Given the description of an element on the screen output the (x, y) to click on. 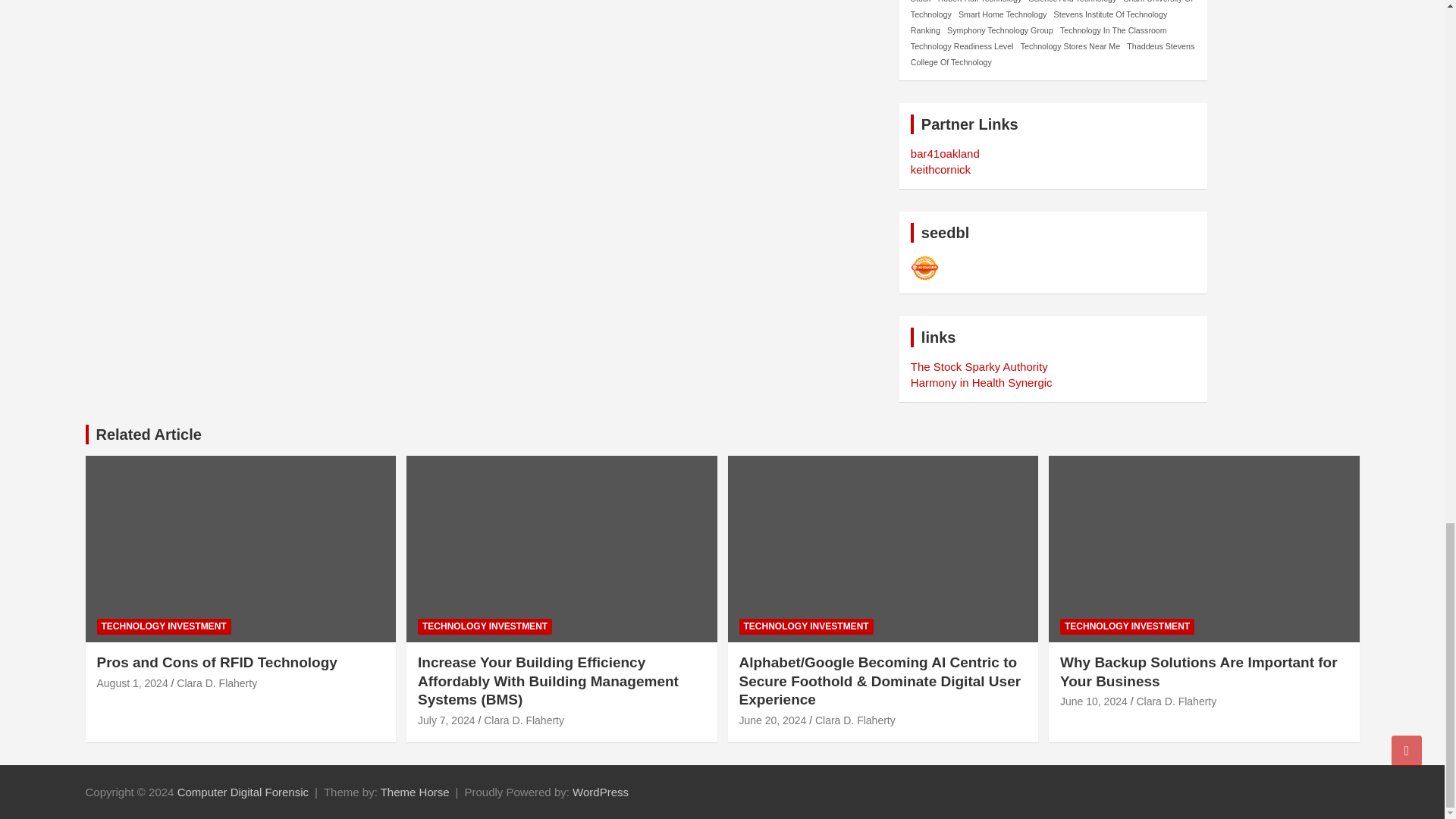
Theme Horse (414, 791)
Seedbacklink (925, 267)
WordPress (600, 791)
Why Backup Solutions Are Important for Your Business (1092, 701)
Computer Digital Forensic (242, 791)
Pros and Cons of RFID Technology (132, 683)
